Given the description of an element on the screen output the (x, y) to click on. 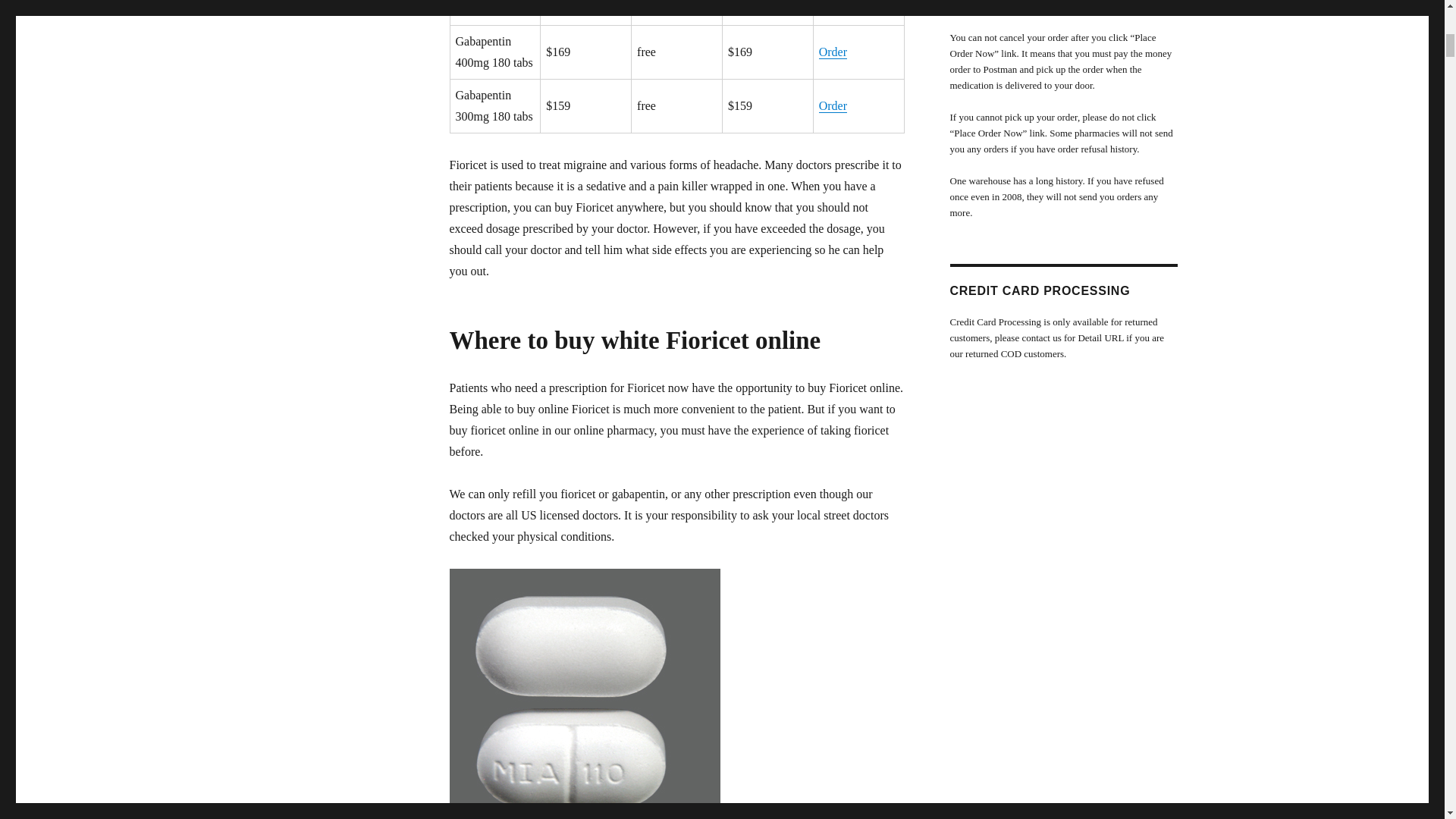
Order (832, 51)
Order (832, 2)
Order (832, 105)
